Given the description of an element on the screen output the (x, y) to click on. 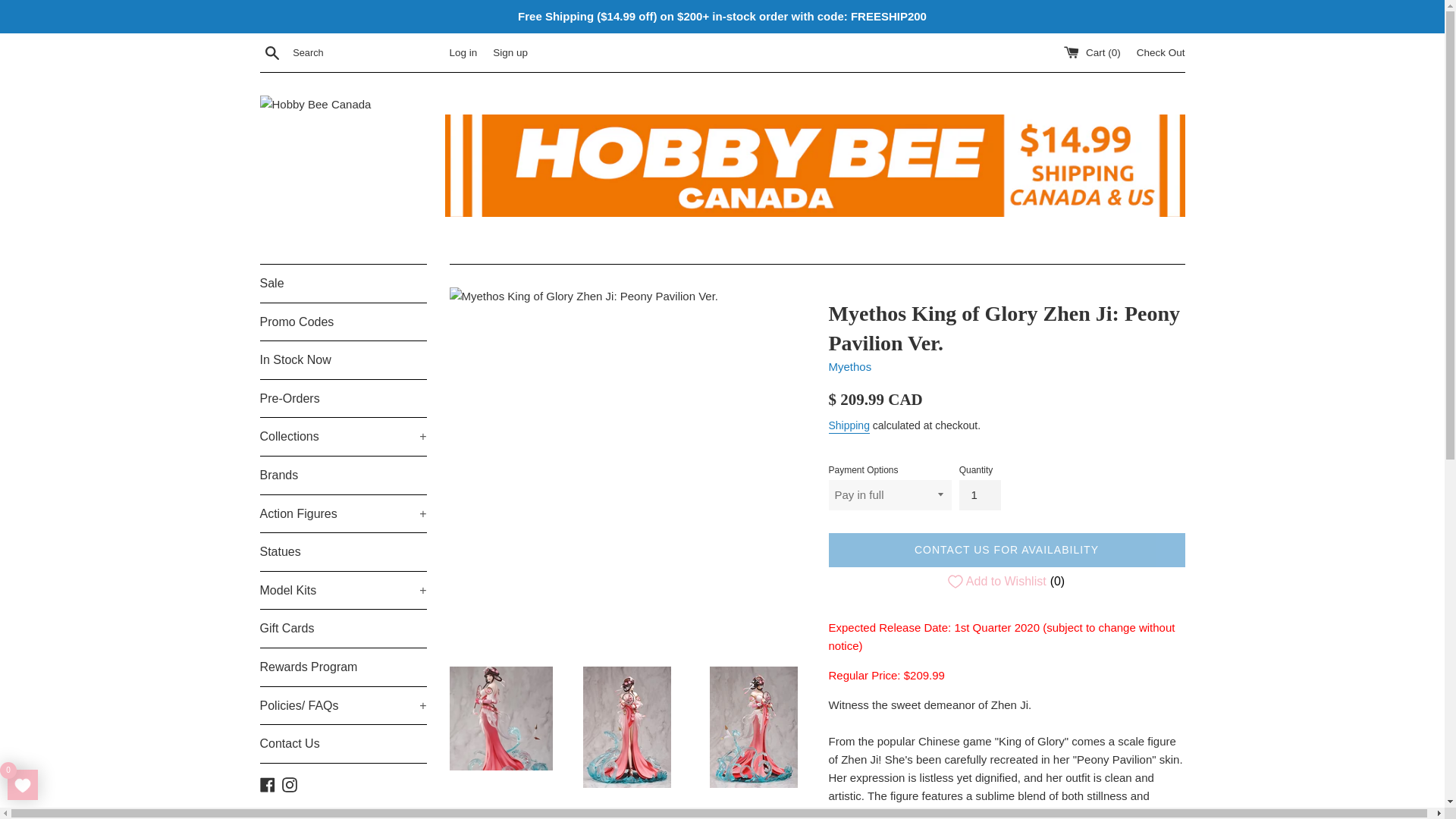
Myethos (849, 366)
Sale (342, 283)
Hobby Bee Canada on Facebook (267, 783)
Hobby Bee Canada on Instagram (289, 783)
Log in (462, 52)
Pre-Orders (342, 398)
Search (271, 52)
1 (980, 494)
Check Out (1161, 52)
In Stock Now (342, 360)
